Given the description of an element on the screen output the (x, y) to click on. 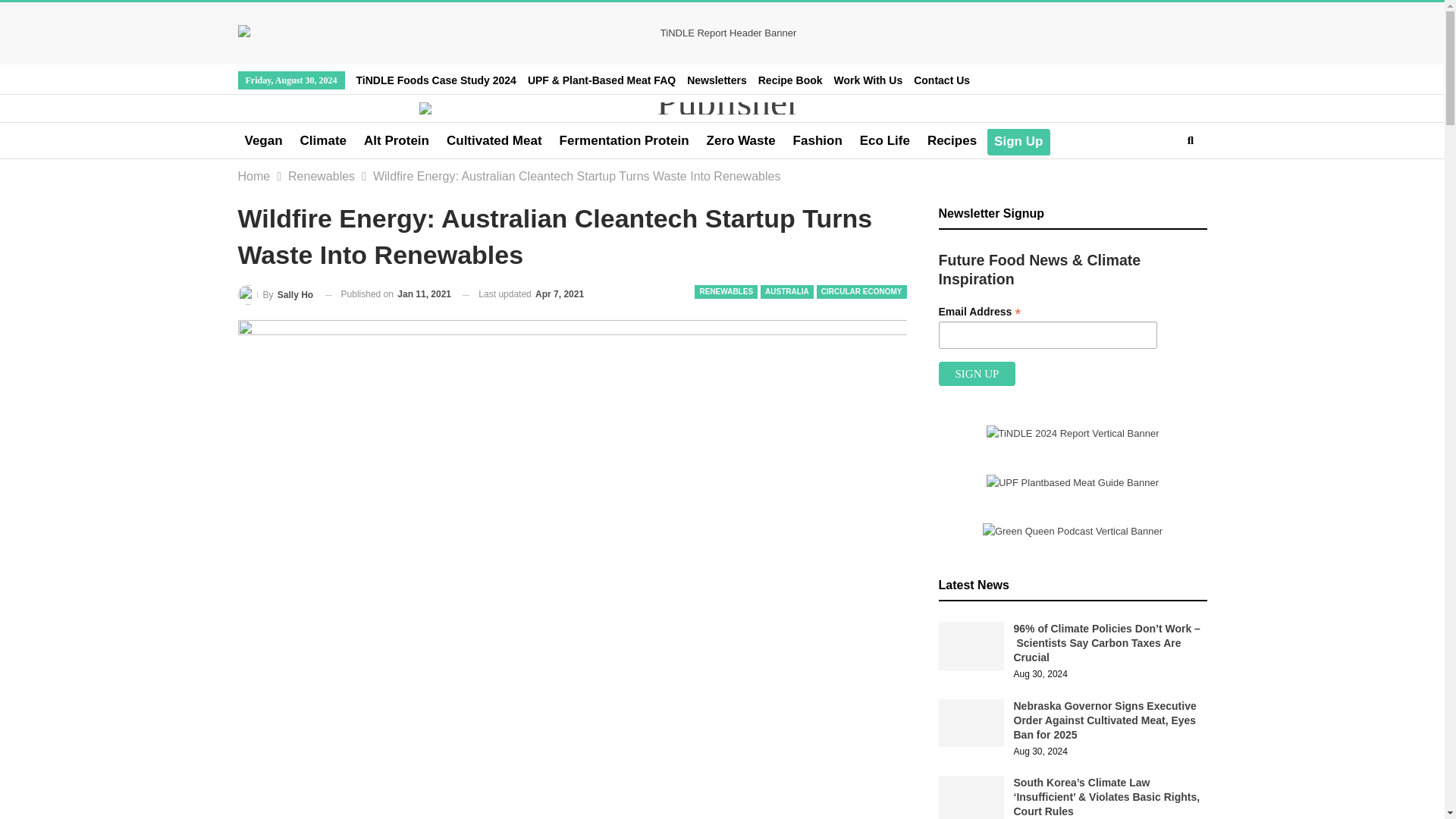
Recipes (952, 140)
CIRCULAR ECONOMY (861, 291)
Alt Protein (395, 140)
Browse Author Articles (276, 294)
Home (254, 176)
TiNDLE Foods Case Study 2024 (436, 80)
Sign Up (1018, 141)
By Sally Ho (276, 294)
Contact Us (941, 80)
Renewables (321, 176)
